Given the description of an element on the screen output the (x, y) to click on. 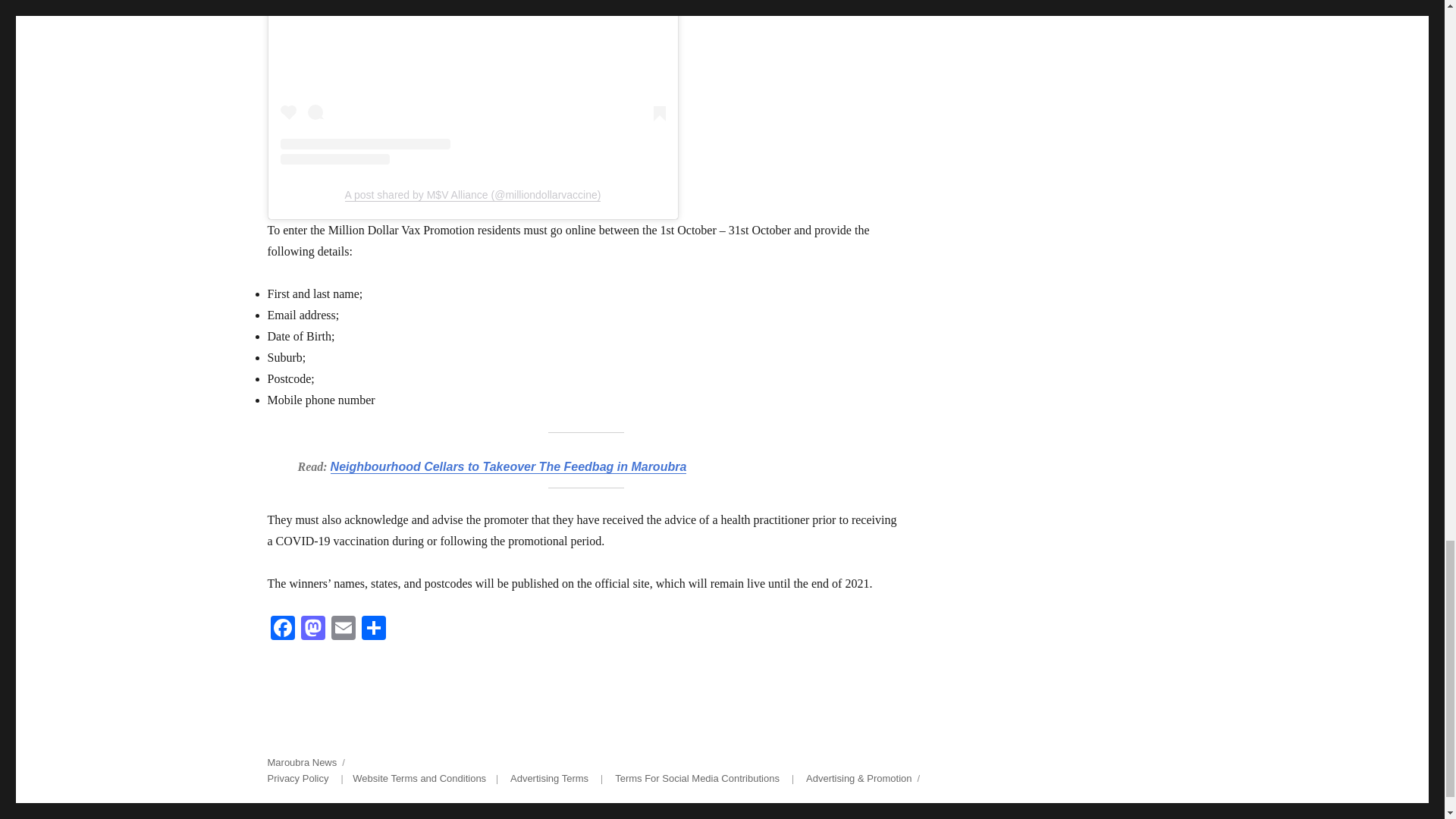
Mastodon (312, 629)
Neighbourhood Cellars to Takeover The Feedbag in Maroubra (508, 466)
Email (342, 629)
View this post on Instagram (473, 82)
Privacy Policy (297, 778)
Email (342, 629)
Facebook (281, 629)
Facebook (281, 629)
Advertising Terms (549, 778)
Terms For Social Media Contributions (696, 778)
